Given the description of an element on the screen output the (x, y) to click on. 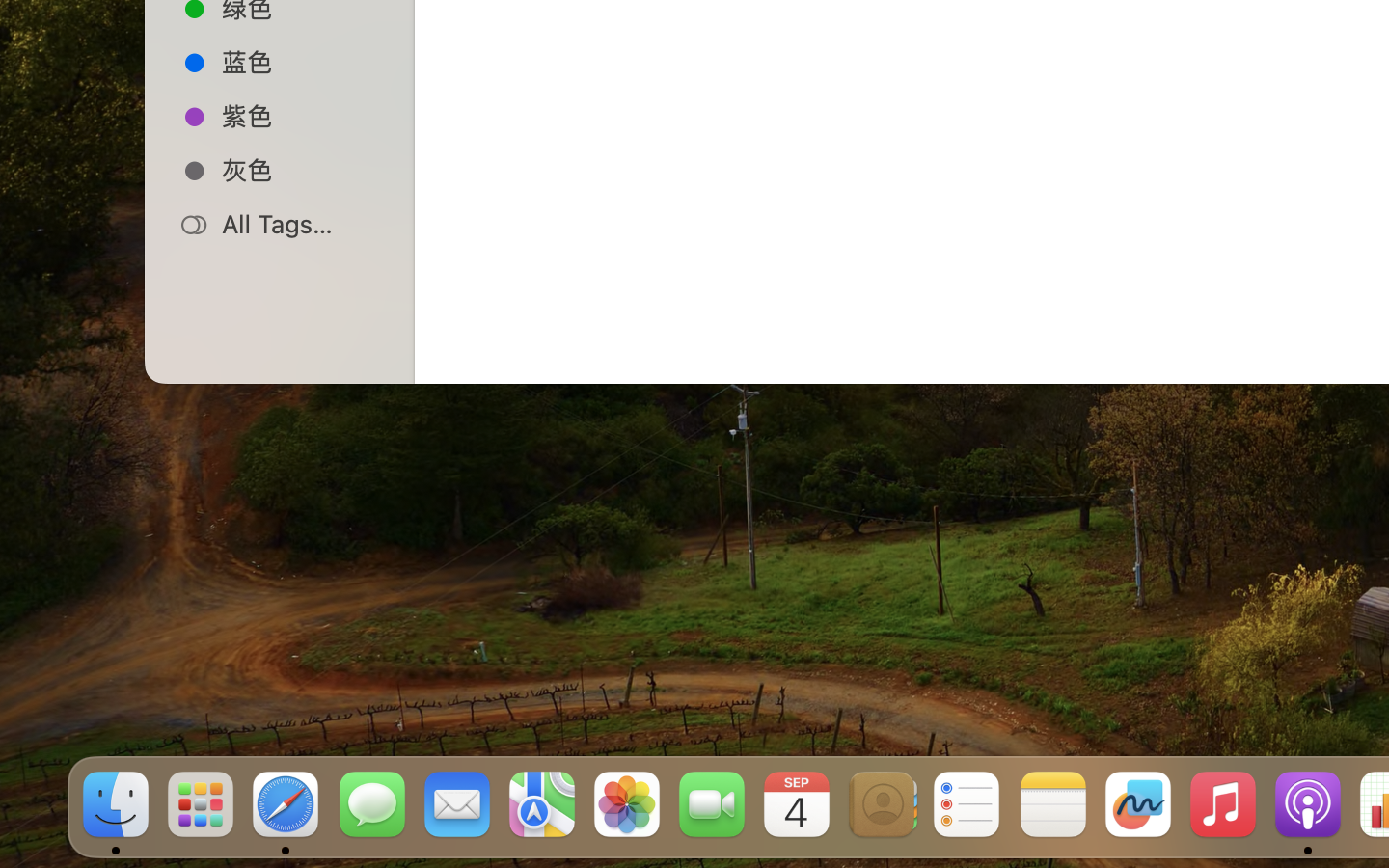
All Tags… Element type: AXStaticText (299, 223)
紫色 Element type: AXStaticText (299, 115)
灰色 Element type: AXStaticText (299, 169)
蓝色 Element type: AXStaticText (299, 61)
